Given the description of an element on the screen output the (x, y) to click on. 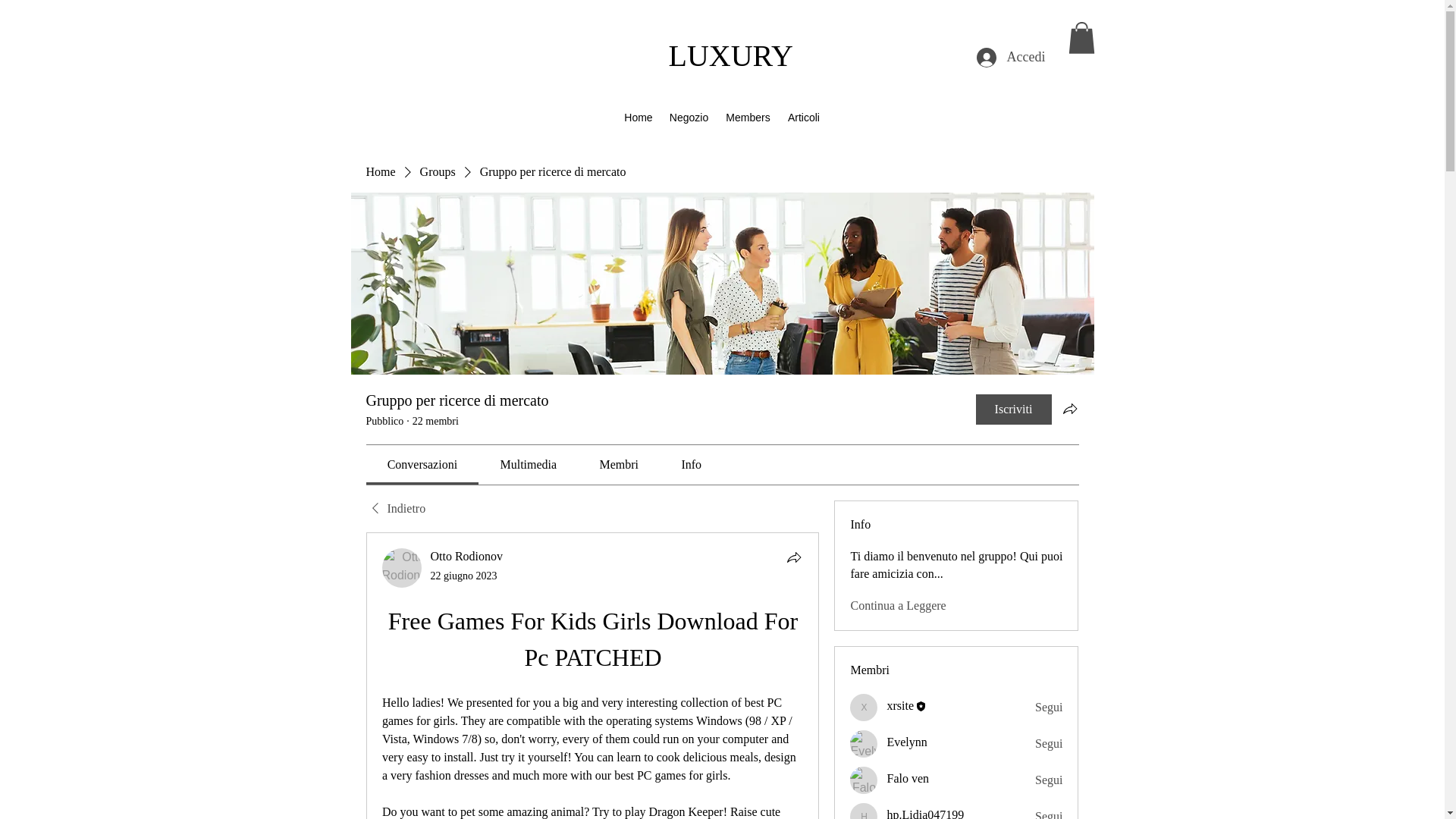
Evelynn (863, 743)
22 giugno 2023 (463, 575)
Home (638, 117)
Continua a Leggere (897, 605)
hp.Lidia047199 (924, 813)
Otto Rodionov (401, 567)
Negozio (688, 117)
Segui (1048, 780)
hp.Lidia047199 (863, 811)
Iscriviti (1013, 409)
Home (379, 171)
Falo ven (863, 779)
Groups (437, 171)
Segui (1048, 813)
Otto Rodionov (466, 555)
